Given the description of an element on the screen output the (x, y) to click on. 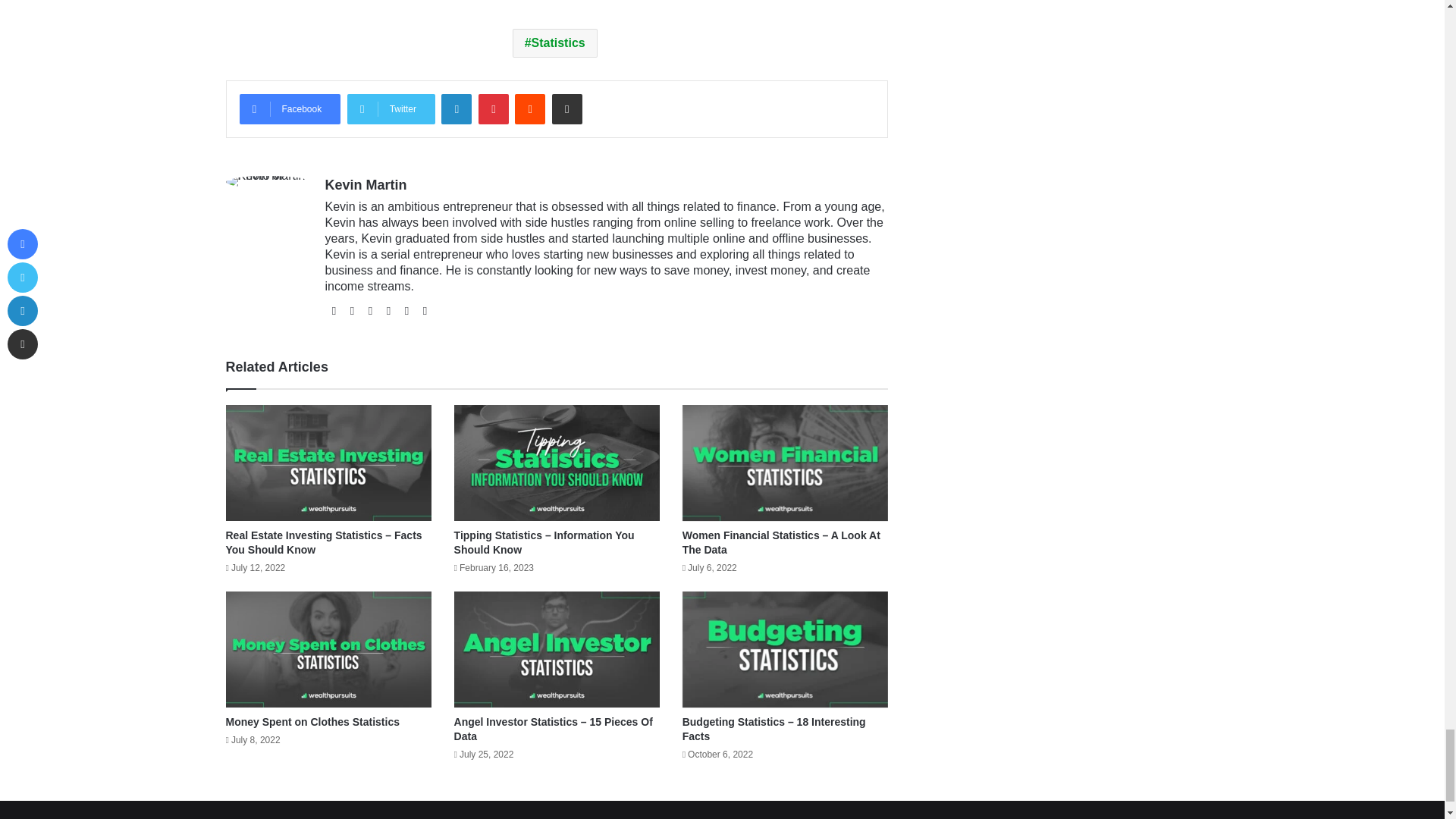
Pinterest (493, 109)
Facebook (290, 109)
LinkedIn (456, 109)
Reddit (529, 109)
Twitter (391, 109)
Share via Email (566, 109)
